Given the description of an element on the screen output the (x, y) to click on. 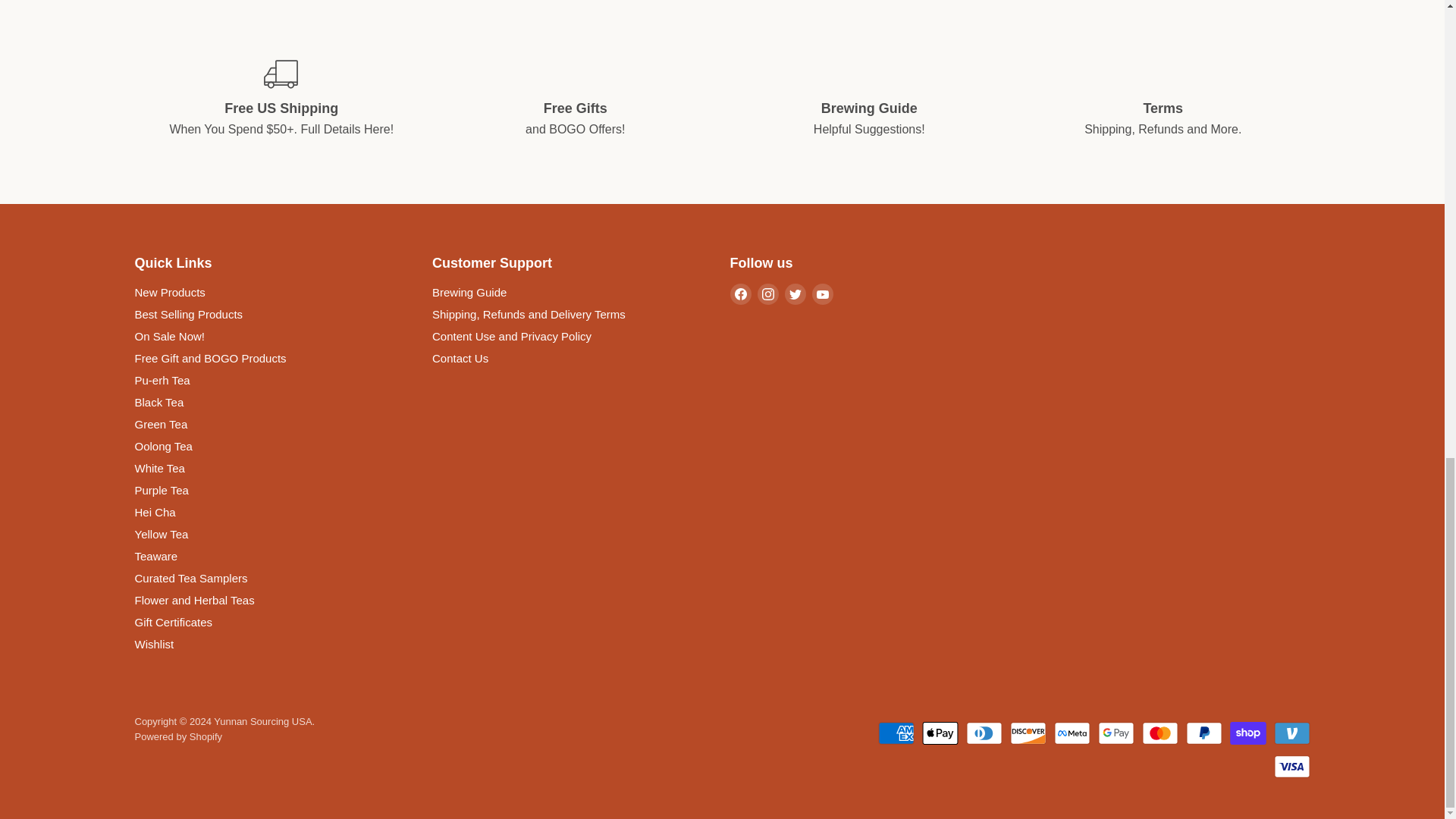
Facebook (740, 293)
Instagram (767, 293)
YouTube (821, 293)
Twitter (794, 293)
